Given the description of an element on the screen output the (x, y) to click on. 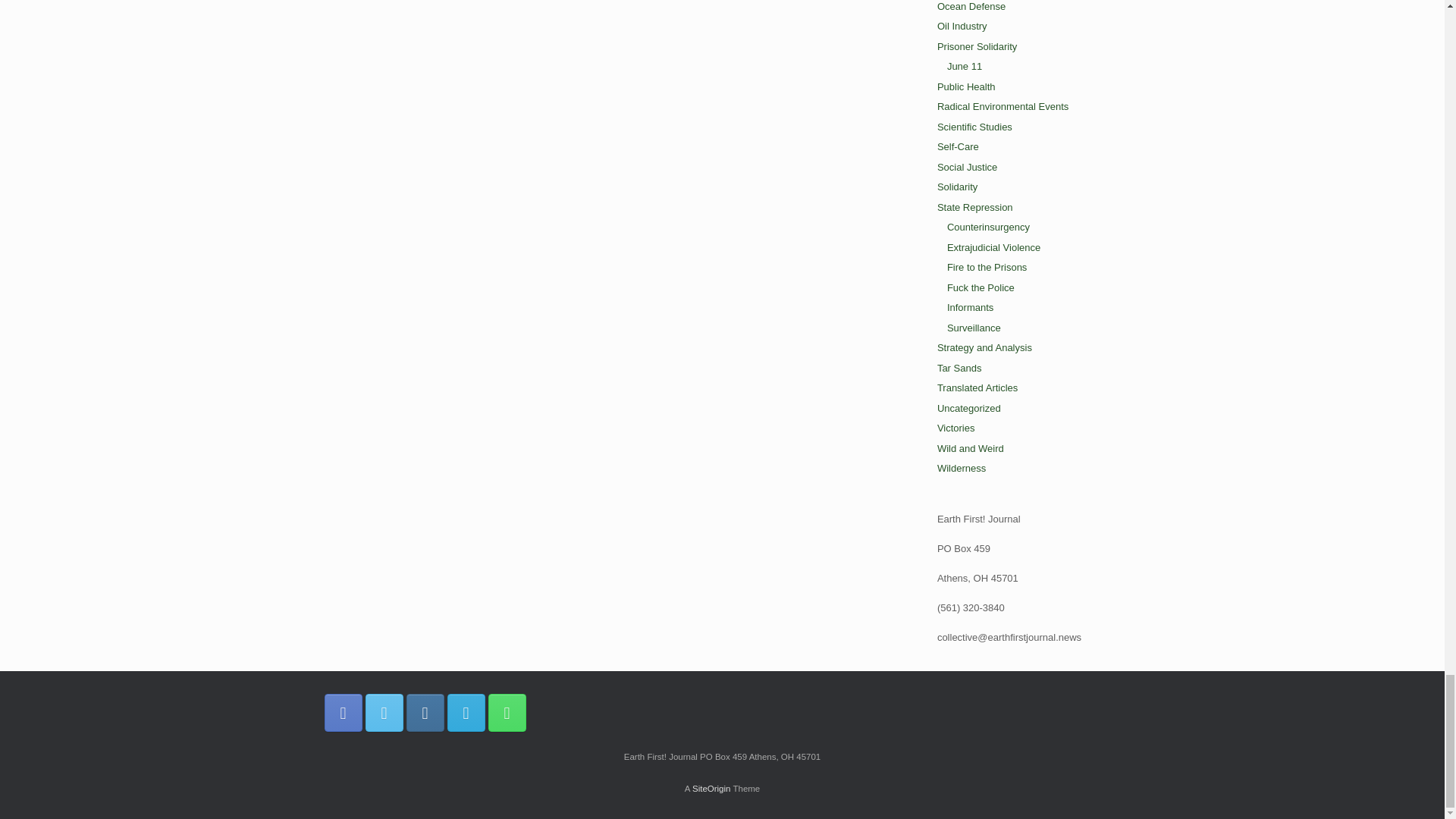
Earth First! Journal Phone (506, 712)
Earth First! Journal Email (465, 712)
Earth First! Journal Twitter (384, 712)
Earth First! Journal Instagram (425, 712)
Earth First! Journal Facebook (343, 712)
